Given the description of an element on the screen output the (x, y) to click on. 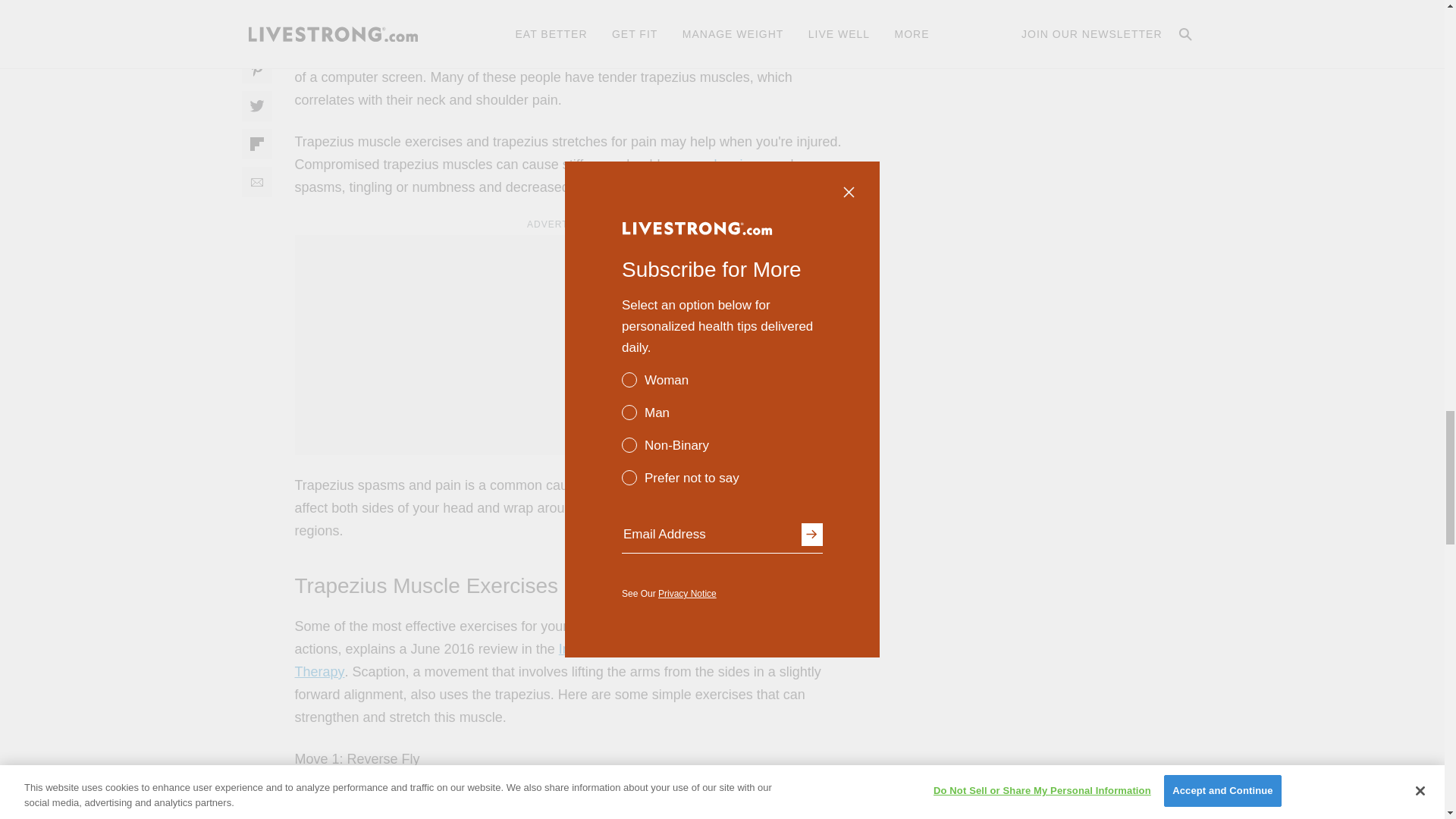
Pain Research and Treatment (566, 20)
